Given the description of an element on the screen output the (x, y) to click on. 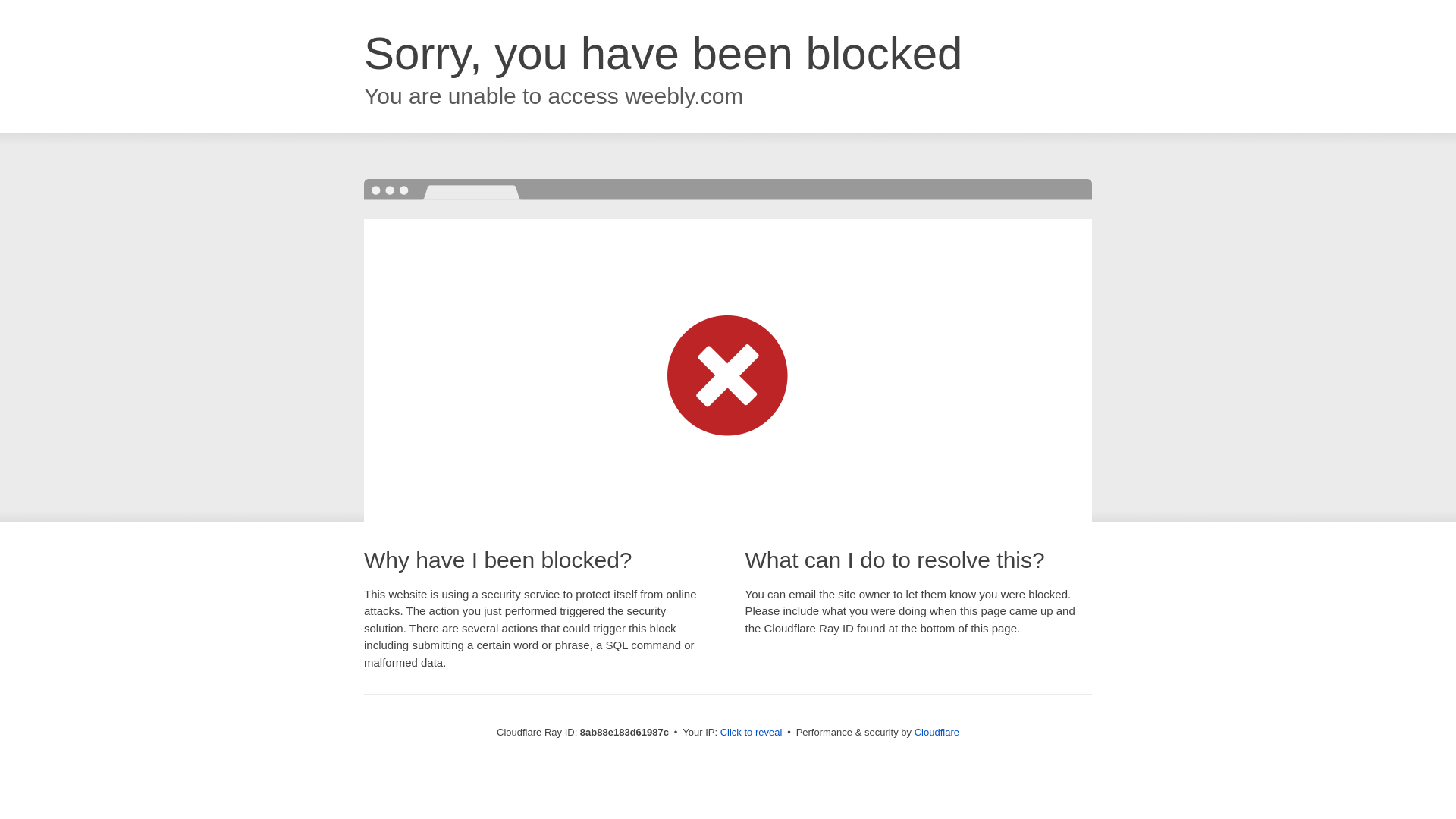
Cloudflare (936, 731)
Click to reveal (751, 732)
